Given the description of an element on the screen output the (x, y) to click on. 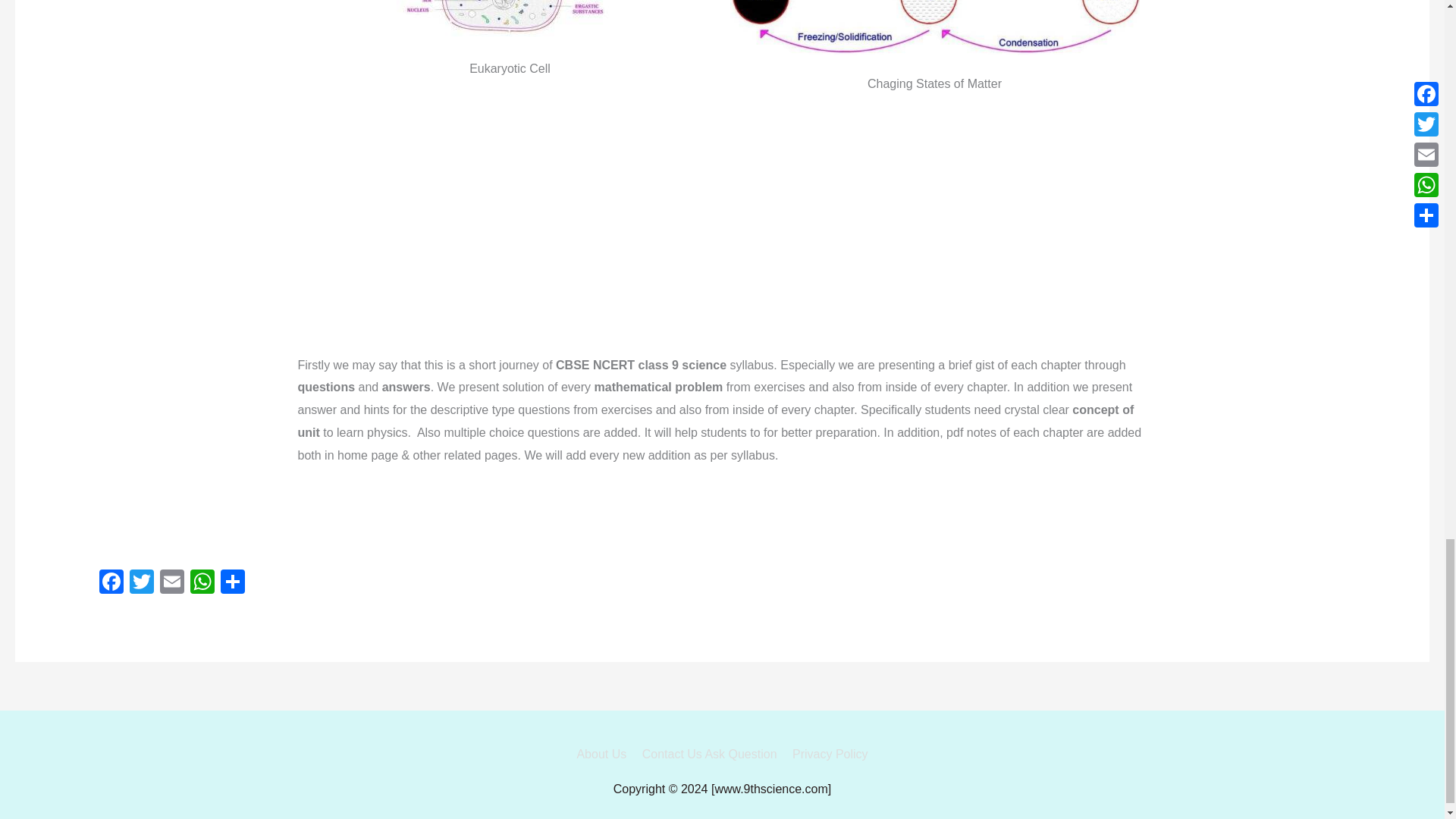
WhatsApp (201, 583)
Facebook (111, 583)
Twitter (141, 583)
Email (172, 583)
